Given the description of an element on the screen output the (x, y) to click on. 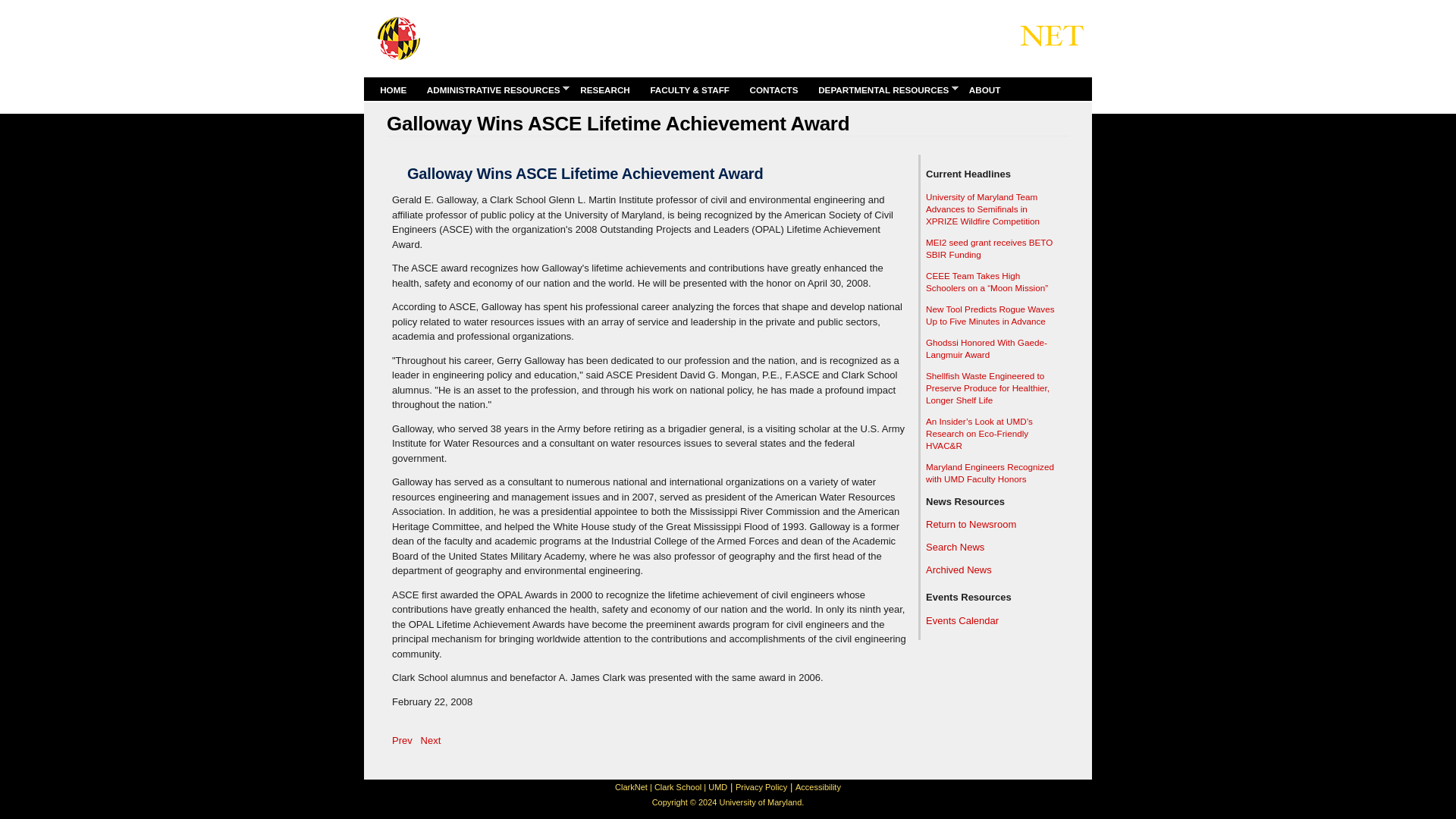
Skip to main content (700, 1)
HOME (392, 89)
ABOUT (984, 89)
CONTACTS (773, 89)
RESEARCH (604, 89)
New Tool Predicts Rogue Waves Up to Five Minutes in Advance (990, 314)
Ghodssi Honored With Gaede-Langmuir Award (986, 348)
MEI2 seed grant receives BETO SBIR Funding (989, 248)
Next (430, 740)
Prev (401, 740)
